Given the description of an element on the screen output the (x, y) to click on. 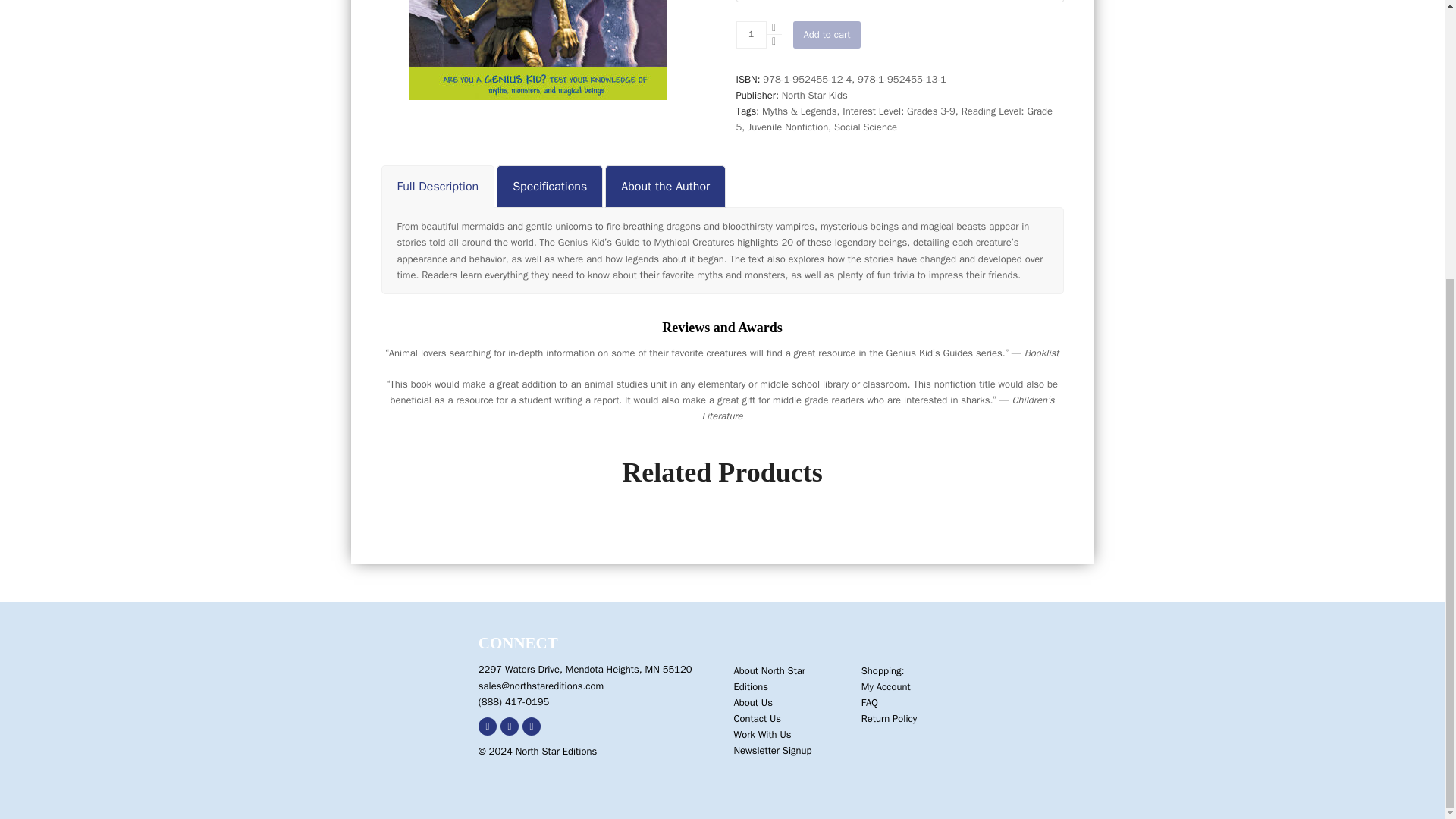
North Star Kids (814, 94)
Reading Level: Grade 5 (893, 118)
Social Science (865, 126)
1 (750, 34)
Facebook (487, 726)
Twitter (509, 726)
Interest Level: Grades 3-9 (899, 110)
Juvenile Nonfiction (788, 126)
Add to cart (827, 34)
